Given the description of an element on the screen output the (x, y) to click on. 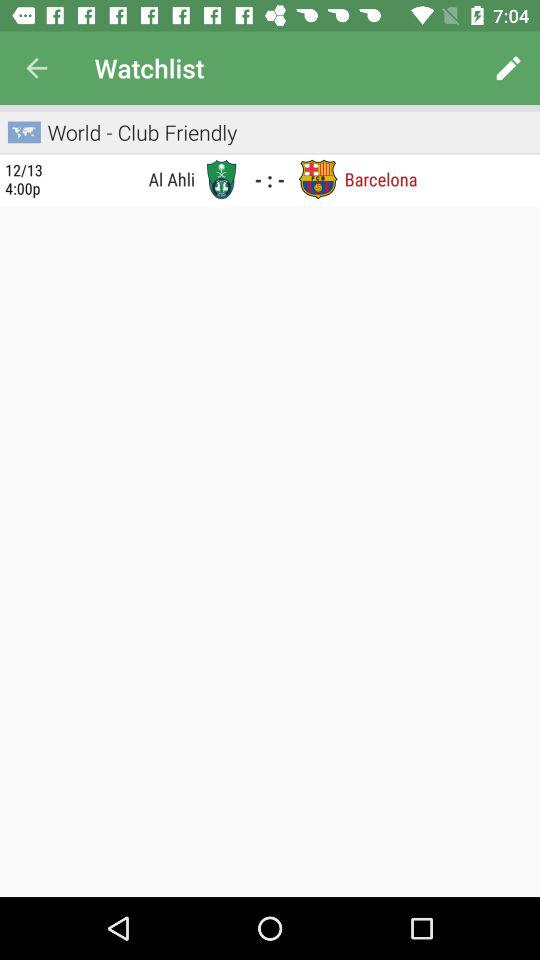
press the - : - icon (269, 179)
